Given the description of an element on the screen output the (x, y) to click on. 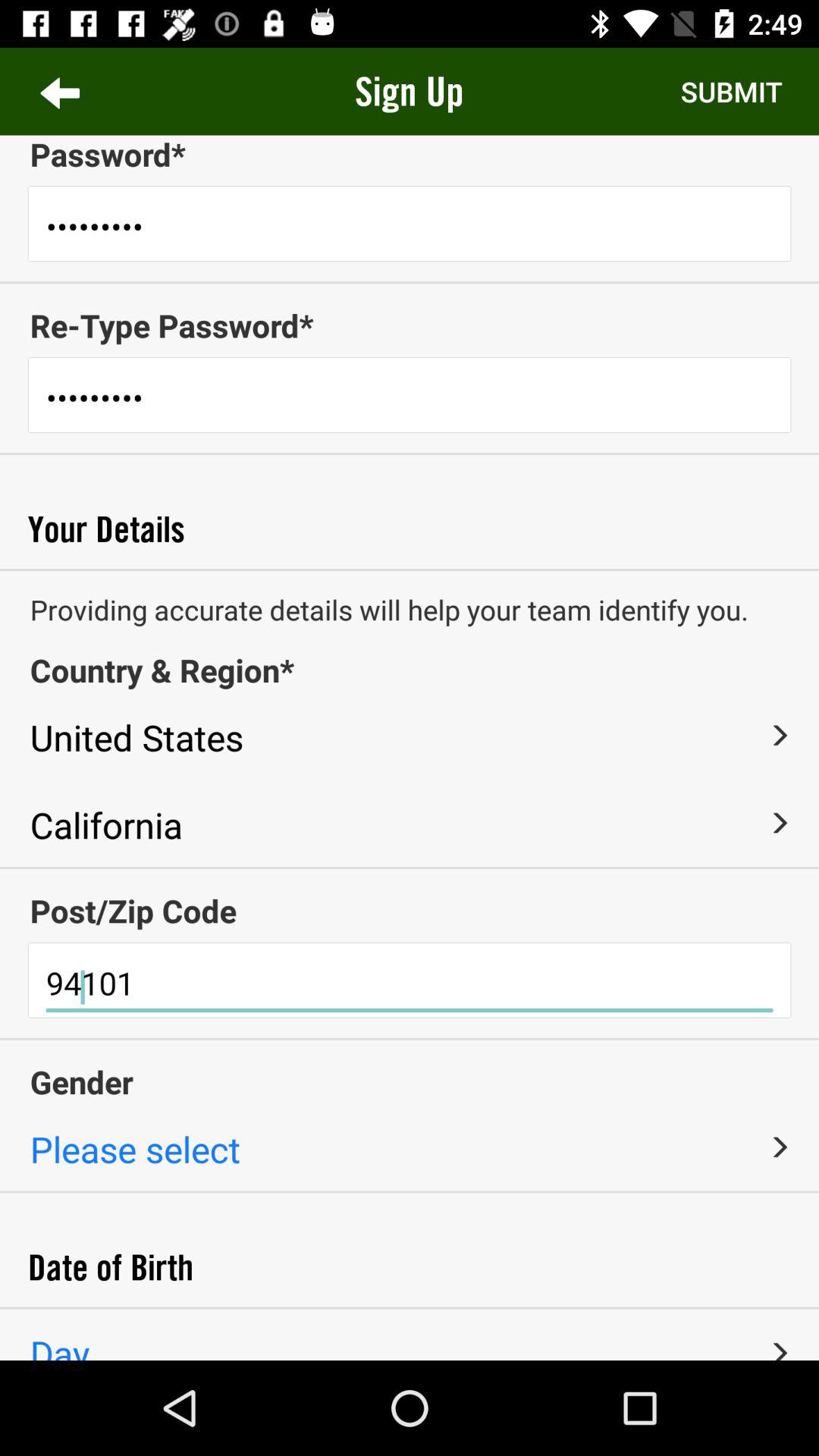
click item below the country & region* item (779, 735)
